Given the description of an element on the screen output the (x, y) to click on. 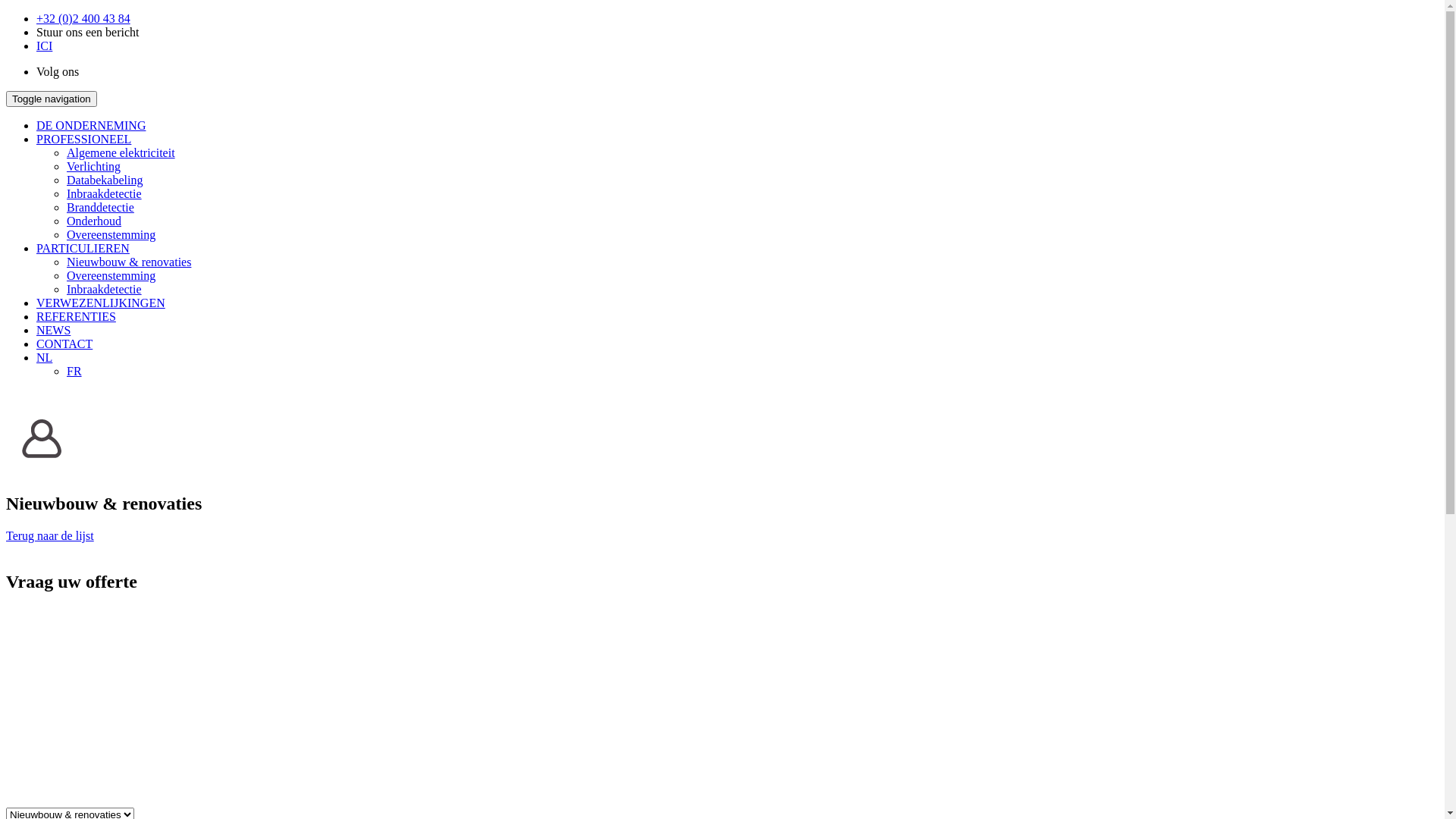
Terug naar de lijst Element type: text (50, 535)
REFERENTIES Element type: text (76, 316)
+32 (0)2 400 43 84 Element type: text (83, 18)
CONTACT Element type: text (64, 343)
Toggle navigation Element type: text (51, 98)
DE ONDERNEMING Element type: text (90, 125)
Databekabeling Element type: text (104, 179)
Onderhoud Element type: text (93, 220)
Branddetectie Element type: text (100, 206)
Inbraakdetectie Element type: text (103, 193)
Overeenstemming Element type: text (110, 234)
NEWS Element type: text (53, 329)
NL Element type: text (44, 357)
Overeenstemming Element type: text (110, 275)
VERWEZENLIJKINGEN Element type: text (100, 302)
Inbraakdetectie Element type: text (103, 288)
Algemene elektriciteit Element type: text (120, 152)
Nieuwbouw & renovaties Element type: text (128, 261)
PARTICULIEREN Element type: text (82, 247)
Verlichting Element type: text (93, 166)
ICI Element type: text (44, 45)
FR Element type: text (73, 370)
PROFESSIONEEL Element type: text (83, 138)
